Given the description of an element on the screen output the (x, y) to click on. 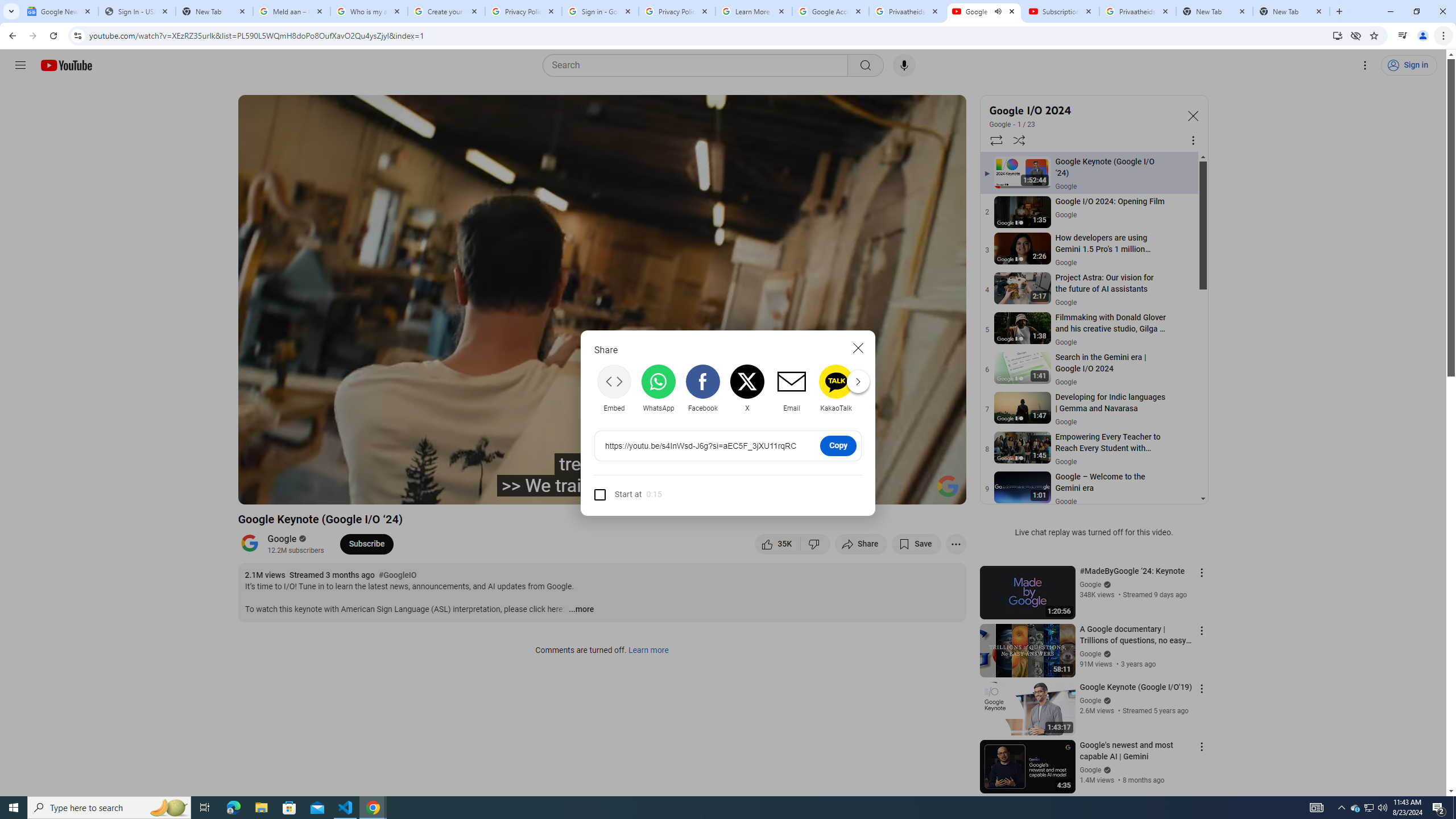
Email (790, 387)
X (747, 387)
Channel watermark (947, 486)
Play (k) (285, 490)
Reddit (879, 388)
Learn more (647, 650)
Start at (618, 494)
